Given the description of an element on the screen output the (x, y) to click on. 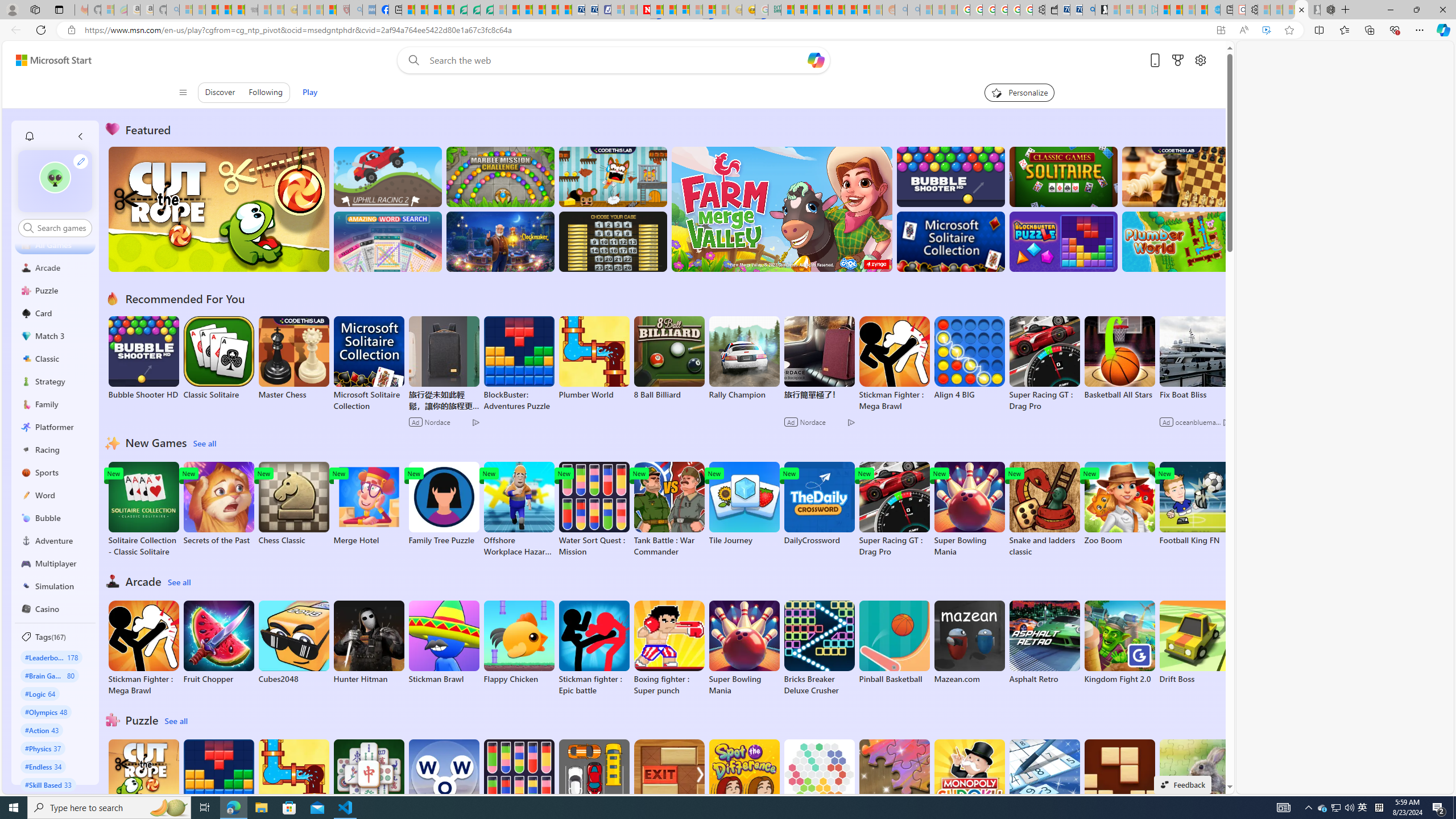
The Weather Channel - MSN (212, 9)
Super Racing GT : Drag Pro (894, 509)
Classic Solitaire (218, 358)
#Brain Games 80 (49, 675)
Cheap Car Rentals - Save70.com (1076, 9)
Drift Boss (1194, 642)
DailyCrossword (818, 503)
